Given the description of an element on the screen output the (x, y) to click on. 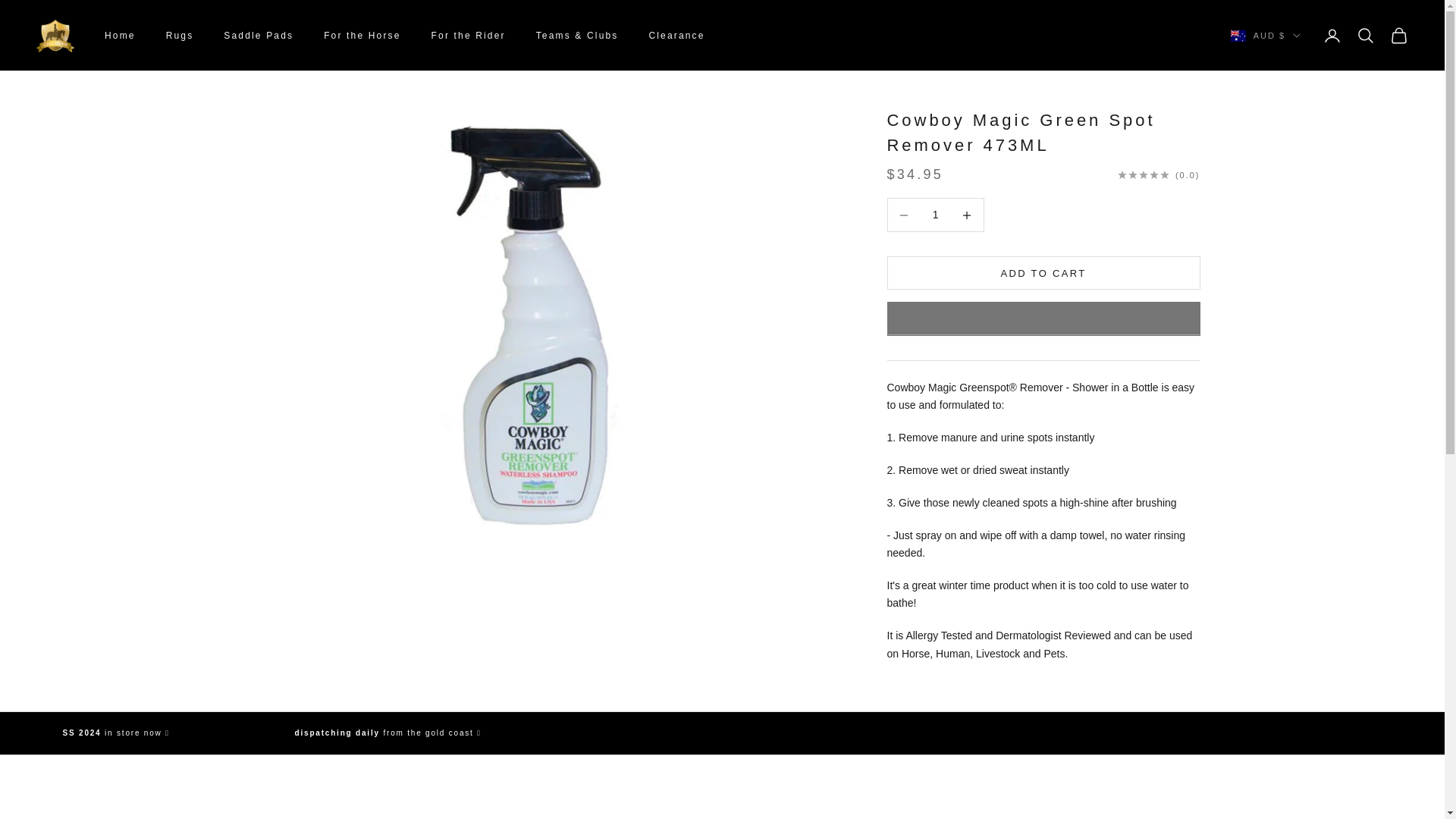
Home (119, 35)
Gala Equine (55, 35)
No reviews (1158, 174)
1 (935, 214)
